Given the description of an element on the screen output the (x, y) to click on. 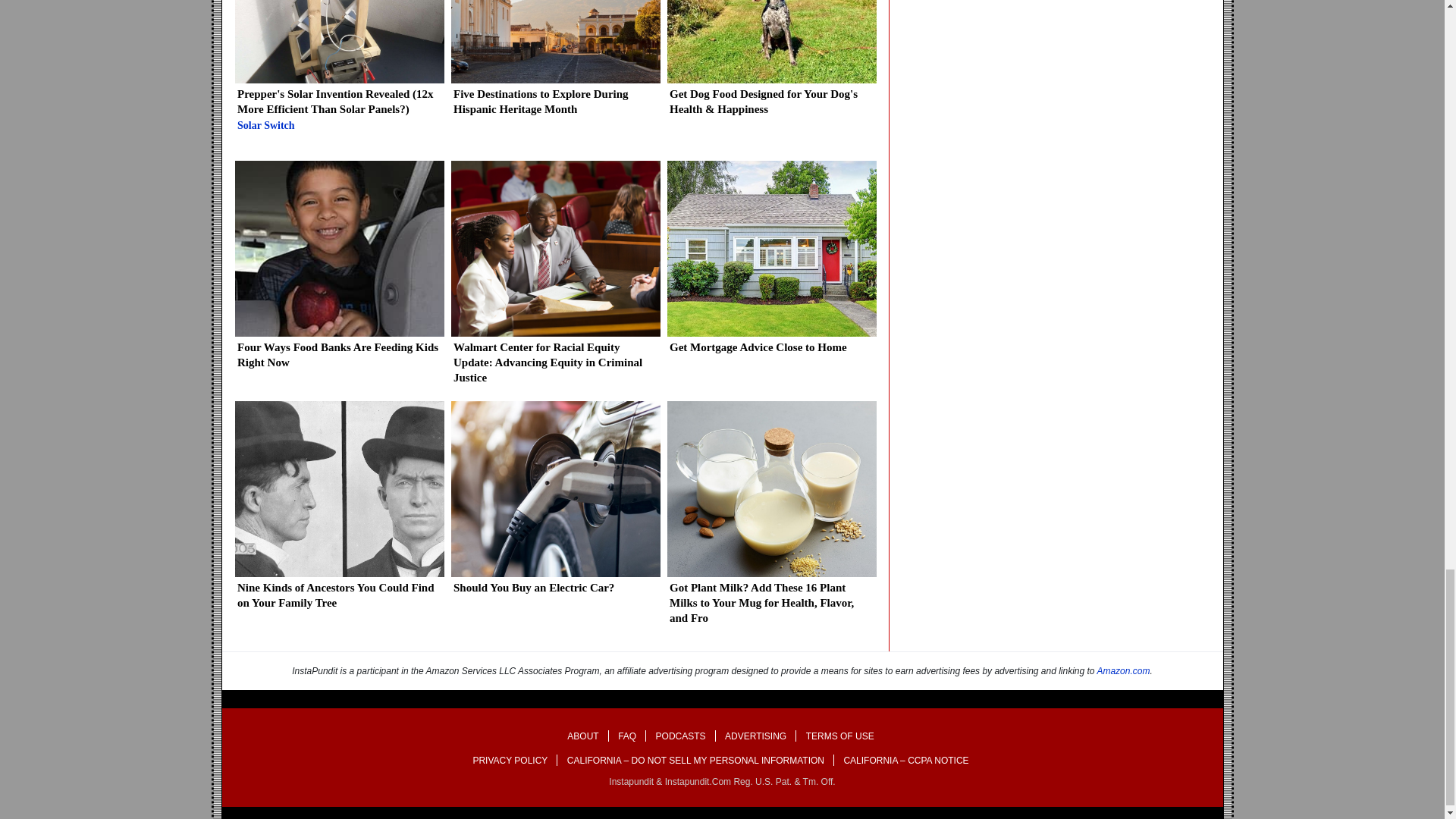
Four Ways Food Banks Are Feeding Kids Right Now (338, 270)
Nine Kinds of Ancestors You Could Find on Your Family Tree (338, 511)
Should You Buy an Electric Car? (554, 503)
Get Mortgage Advice Close to Home (770, 263)
Four Ways Food Banks Are Feeding Kids Right Now (338, 270)
Nine Kinds of Ancestors You Could Find on Your Family Tree (338, 511)
Get Mortgage Advice Close to Home (770, 263)
Five Destinations to Explore During Hispanic Heritage Month (554, 63)
Five Destinations to Explore During Hispanic Heritage Month (554, 63)
Should You Buy an Electric Car? (554, 503)
